Given the description of an element on the screen output the (x, y) to click on. 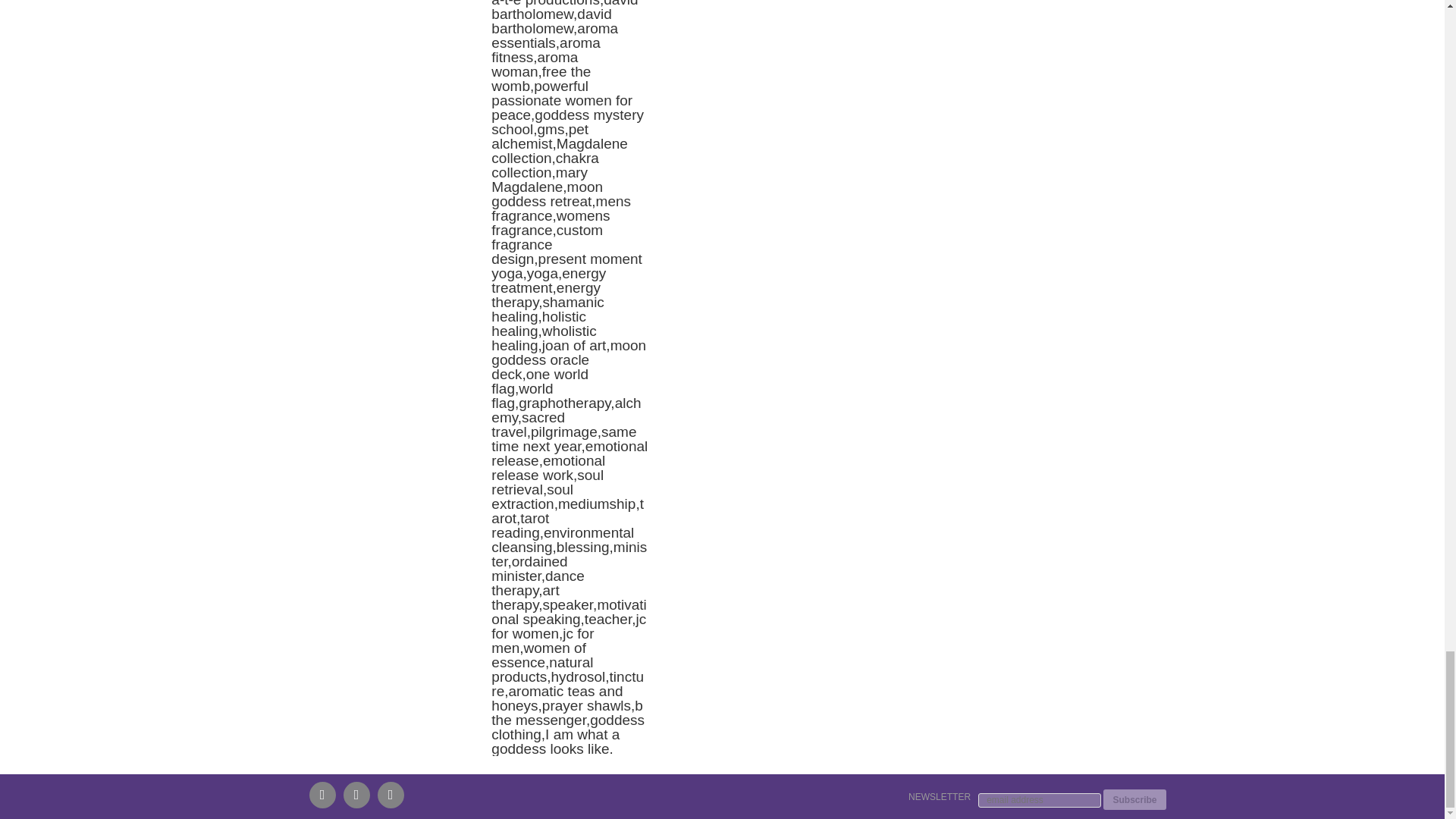
Subscribe (1134, 799)
